Given the description of an element on the screen output the (x, y) to click on. 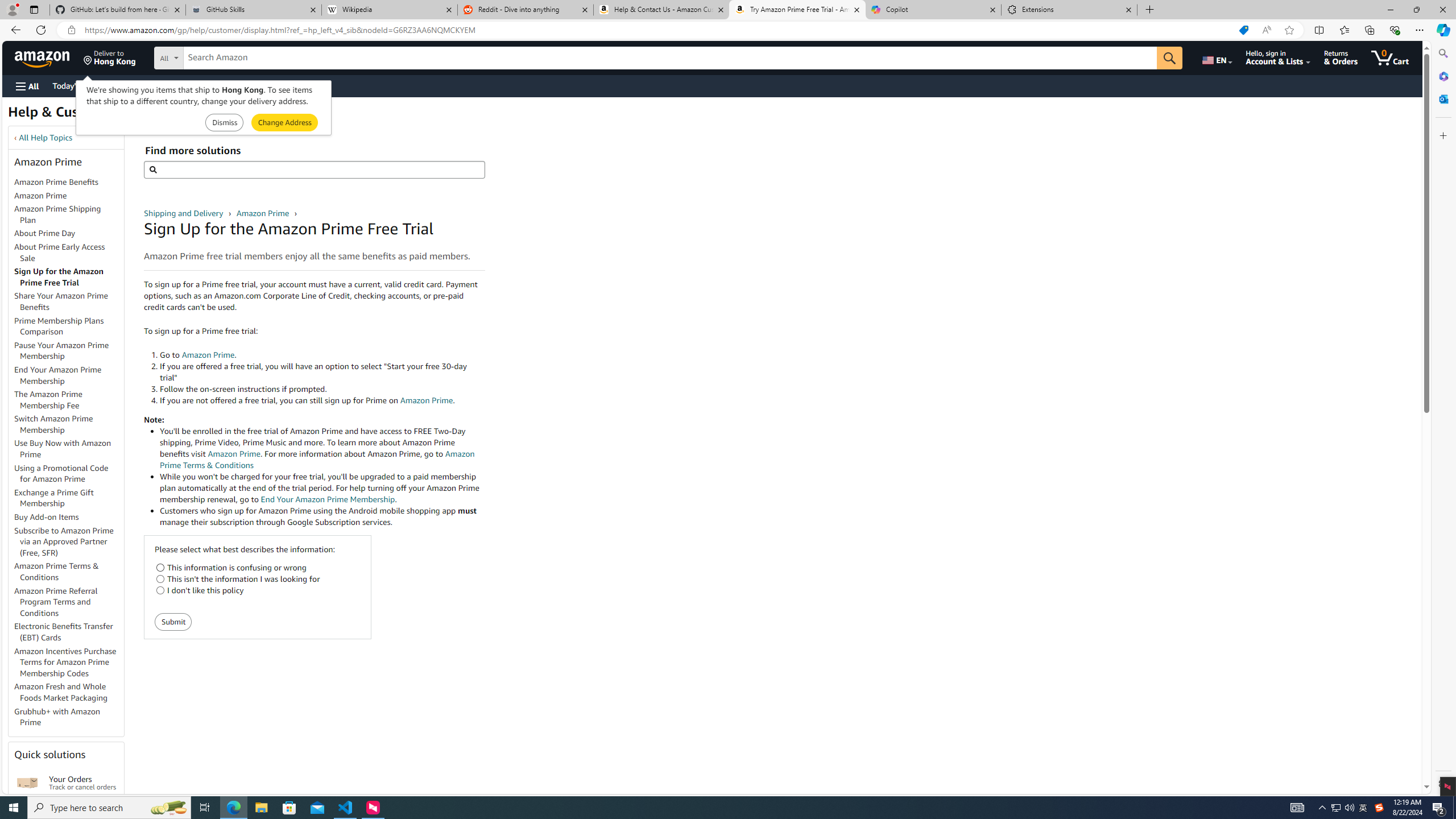
Using a Promotional Code for Amazon Prime (61, 473)
Pause Your Amazon Prime Membership (61, 350)
Your Orders (27, 782)
Use Buy Now with Amazon Prime (68, 449)
Share Your Amazon Prime Benefits (61, 301)
Amazon Prime Referral Program Terms and Conditions (55, 601)
Amazon Prime (40, 195)
I don't like this policy (159, 590)
Today's Deals (76, 85)
The Amazon Prime Membership Fee (68, 400)
